Given the description of an element on the screen output the (x, y) to click on. 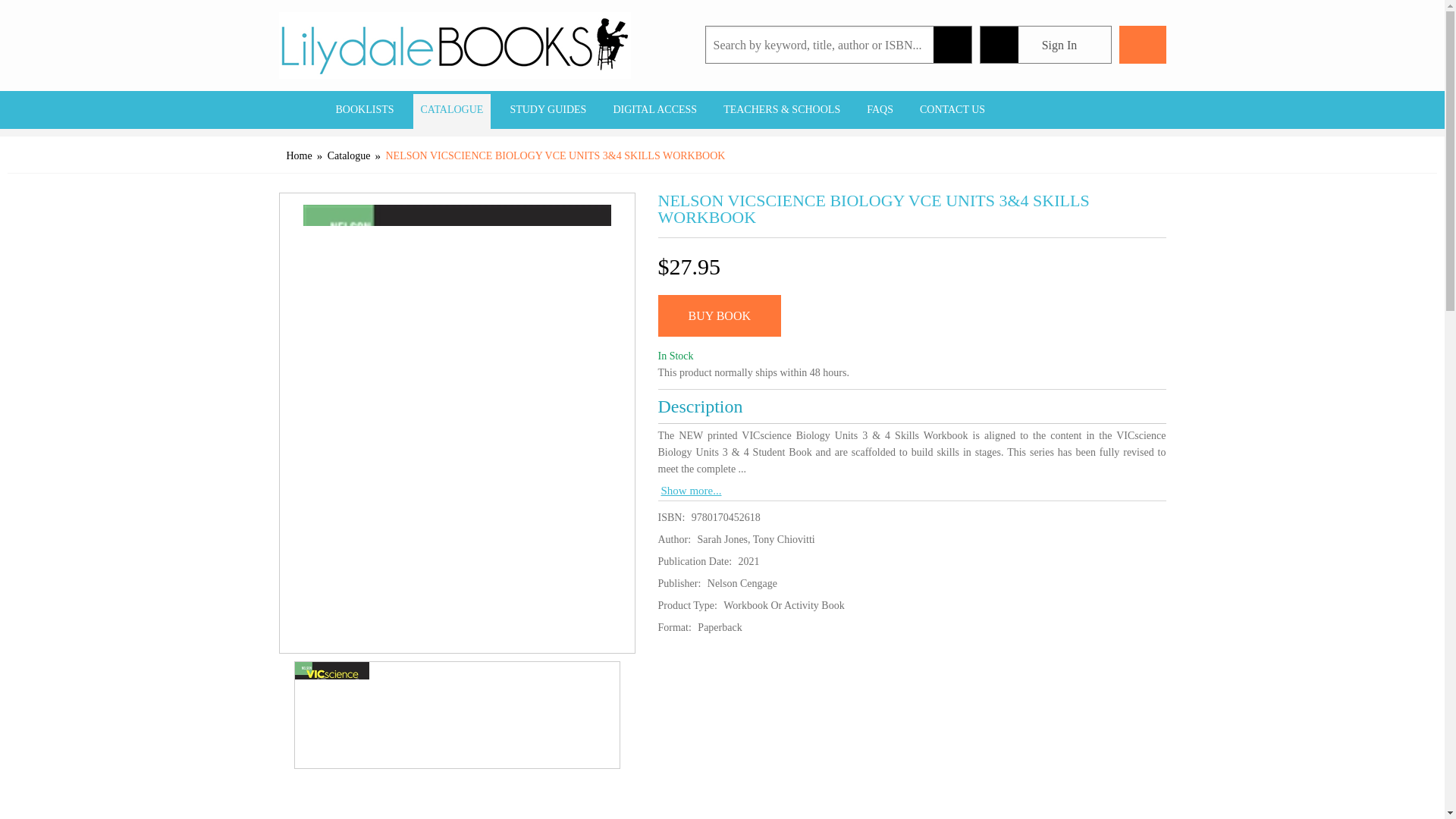
FAQs (880, 109)
BOOKLISTS (364, 109)
Booklists (364, 109)
CATALOGUE (452, 109)
Catalogue (452, 109)
Home (298, 109)
Contact (952, 109)
eBooks (548, 109)
View Items (1142, 44)
